Given the description of an element on the screen output the (x, y) to click on. 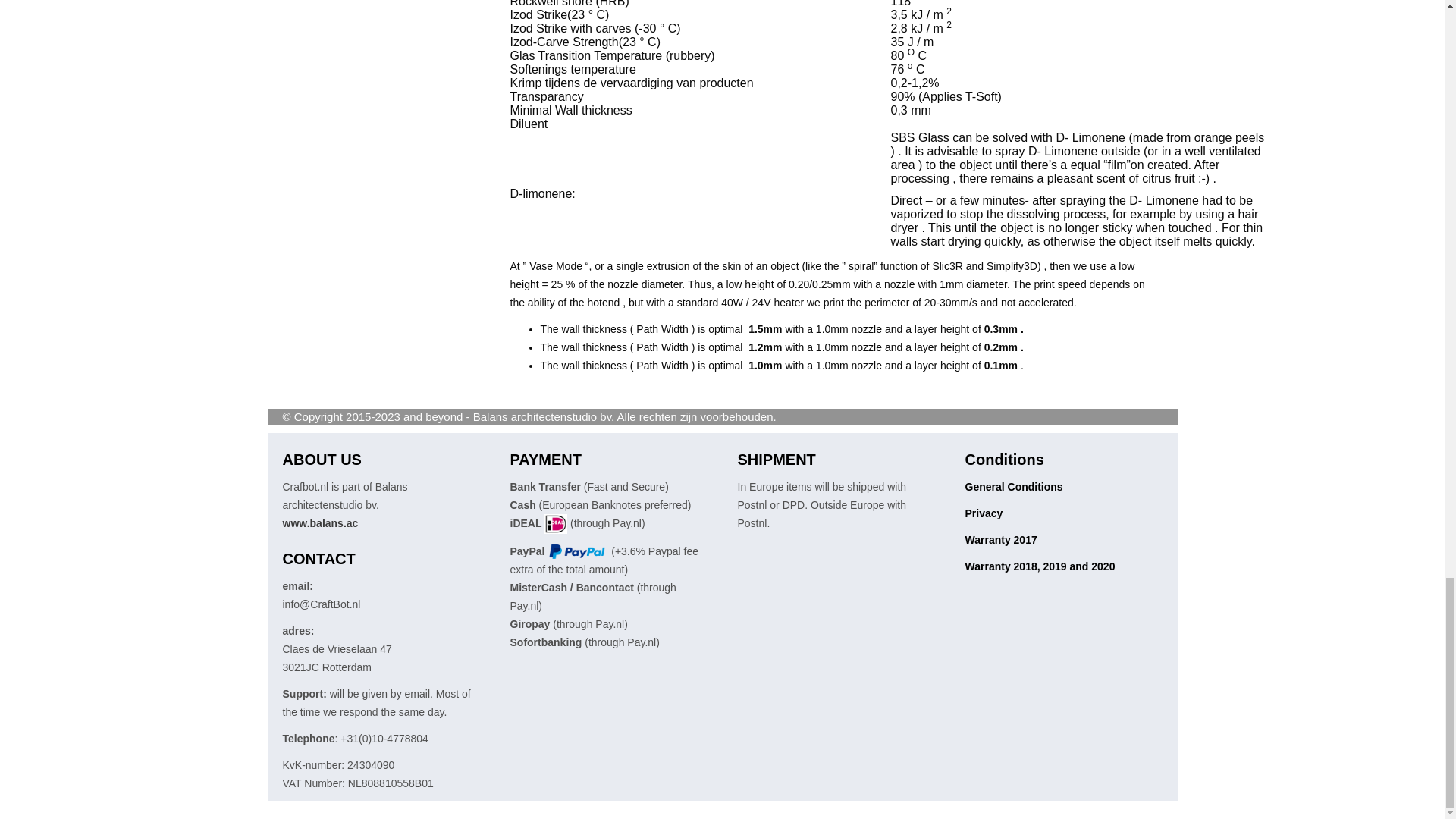
Warranty 2017 (999, 539)
General Conditions (1012, 486)
Warranty 2018, 2019 and 2020 (1039, 566)
www.balans.ac (320, 522)
Privacy (983, 512)
